Given the description of an element on the screen output the (x, y) to click on. 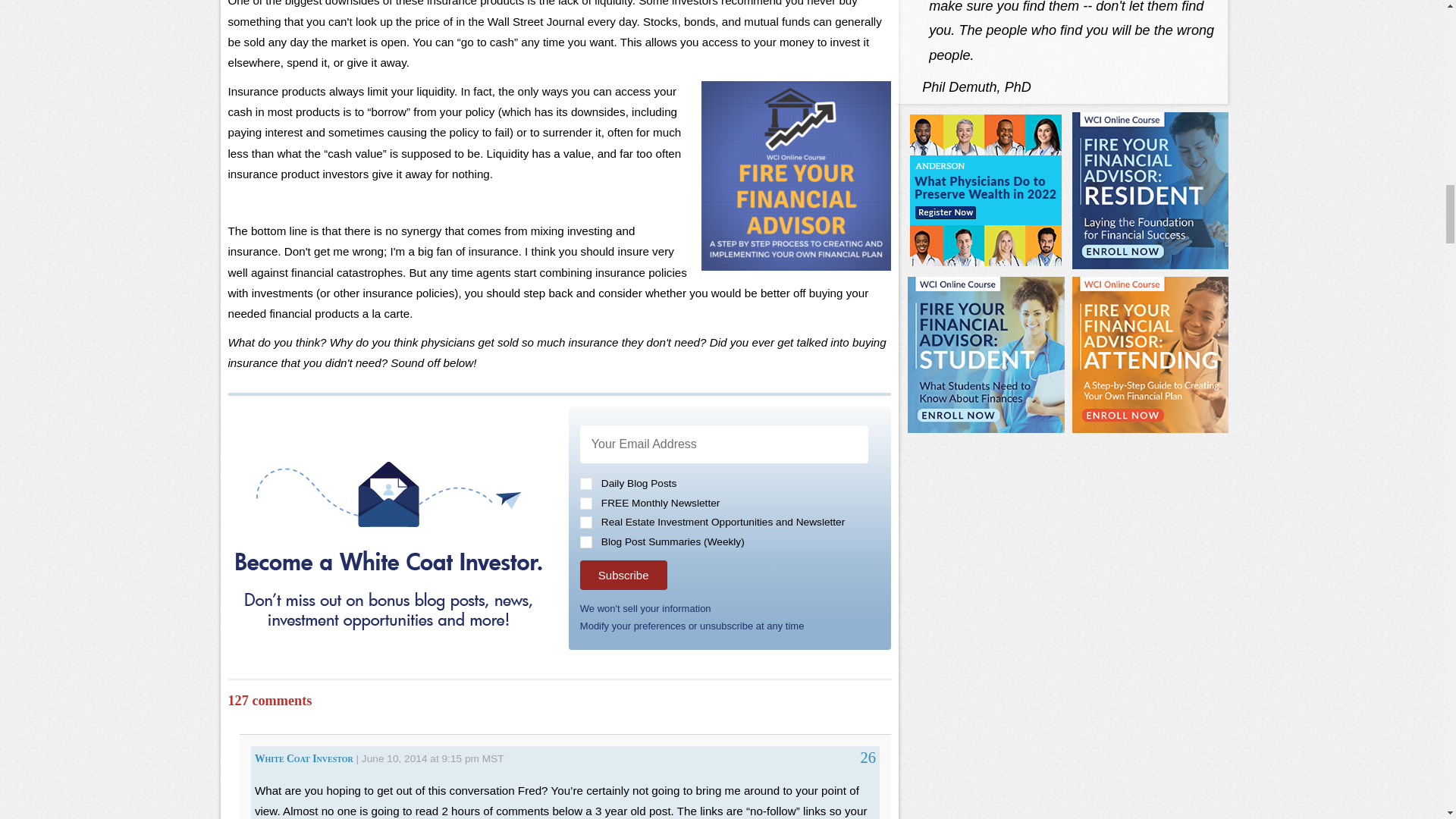
Mountain Standard Time (492, 758)
